Given the description of an element on the screen output the (x, y) to click on. 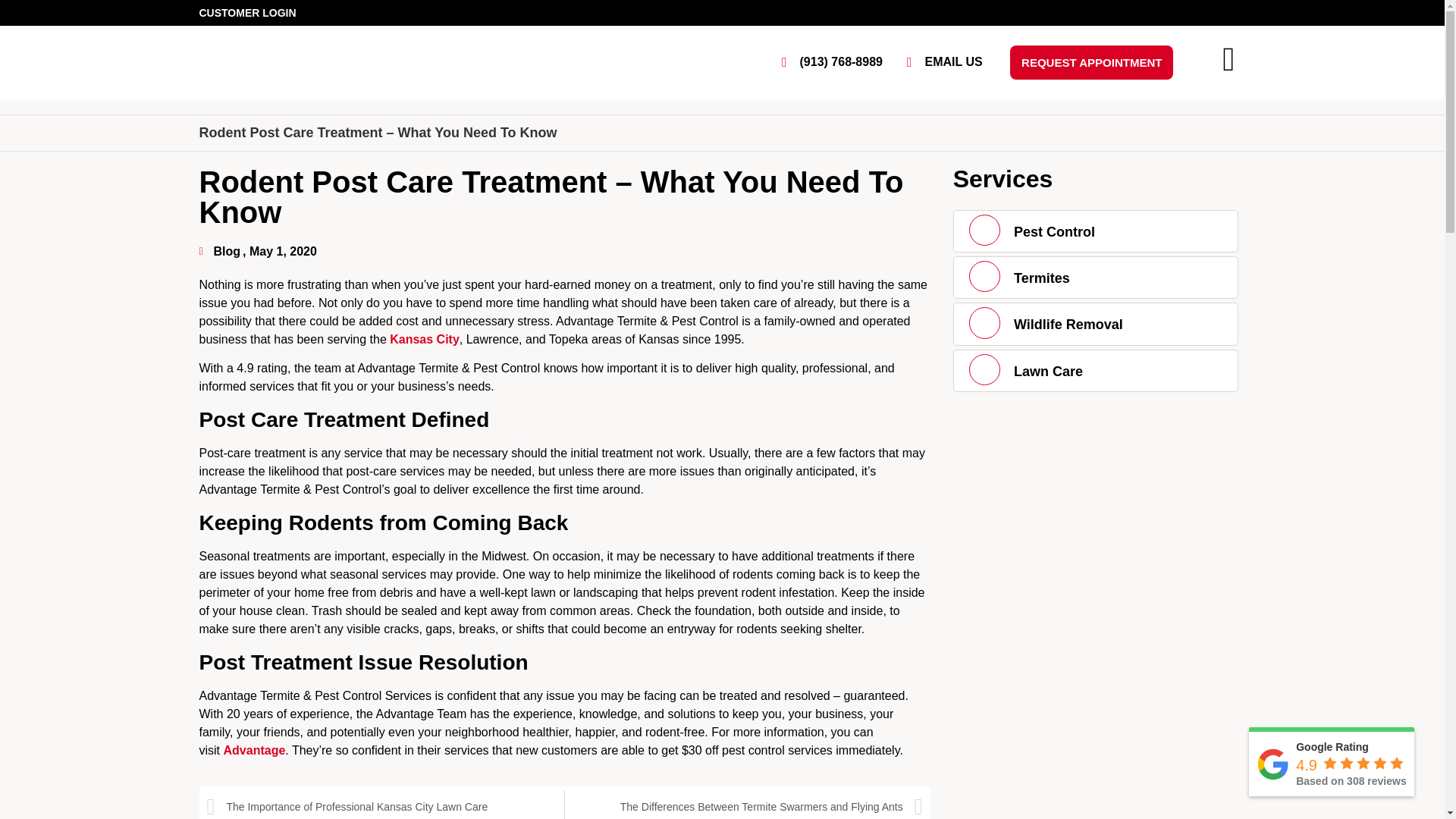
REQUEST APPOINTMENT (1091, 62)
CUSTOMER LOGIN (246, 12)
EMAIL US (938, 62)
